Given the description of an element on the screen output the (x, y) to click on. 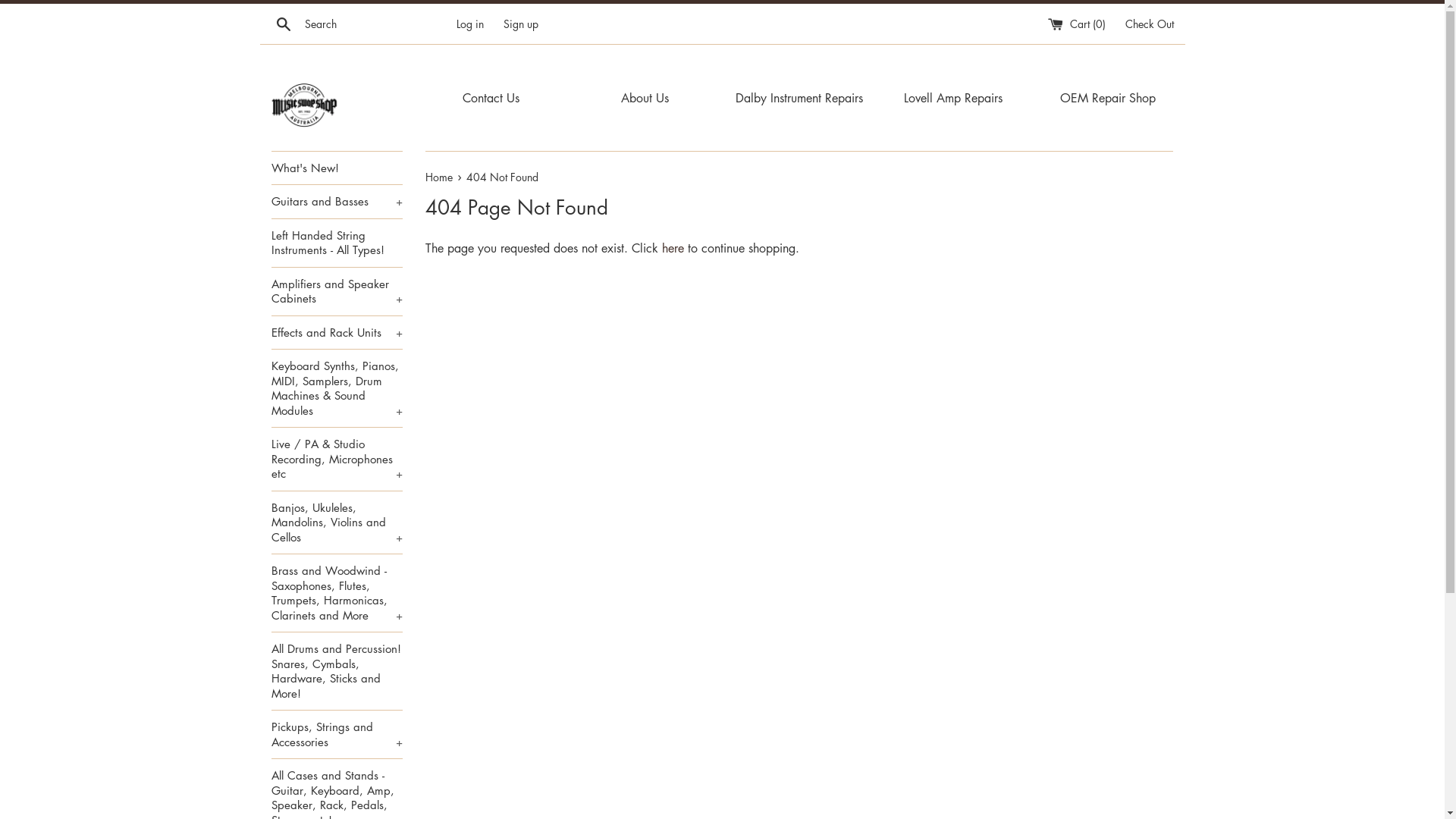
Contact Us Element type: text (490, 97)
Pickups, Strings and Accessories
+ Element type: text (336, 734)
Amplifiers and Speaker Cabinets
+ Element type: text (336, 291)
Guitars and Basses
+ Element type: text (336, 201)
Banjos, Ukuleles, Mandolins, Violins and Cellos
+ Element type: text (336, 522)
What's New! Element type: text (336, 168)
Dalby Instrument Repairs Element type: text (798, 97)
Lovell Amp Repairs Element type: text (952, 97)
Log in Element type: text (469, 22)
OEM Repair Shop Element type: text (1107, 97)
Home Element type: text (440, 176)
Effects and Rack Units
+ Element type: text (336, 332)
Search Element type: text (283, 24)
Left Handed String Instruments - All Types! Element type: text (336, 242)
Sign up Element type: text (520, 22)
Cart (0) Element type: text (1078, 22)
Check Out Element type: text (1149, 22)
Live / PA & Studio Recording, Microphones etc
+ Element type: text (336, 458)
here Element type: text (673, 247)
About Us Element type: text (644, 97)
